Given the description of an element on the screen output the (x, y) to click on. 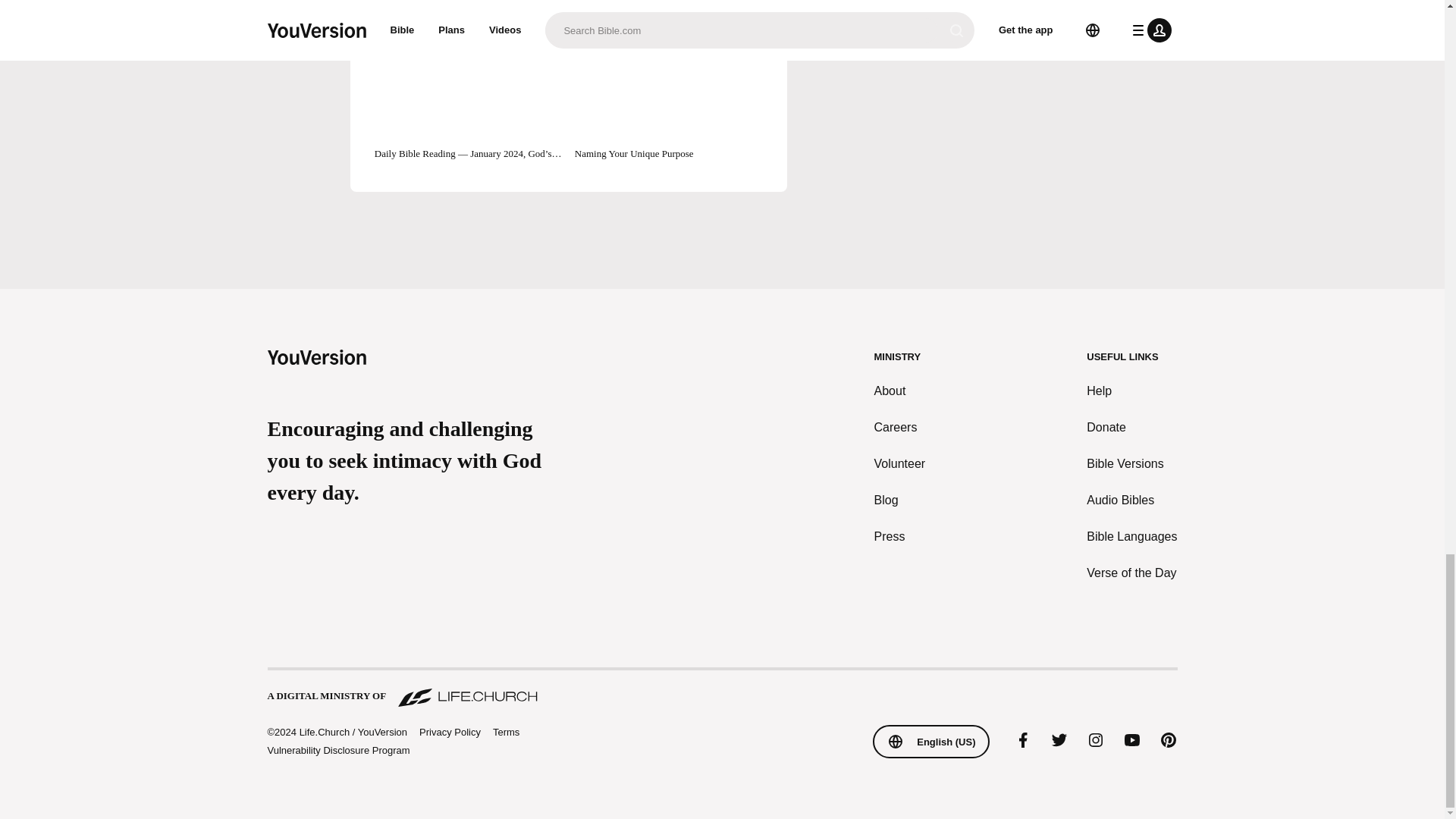
Reading the Bible in Historical Sequence Part 10 (468, 8)
About (900, 391)
The Whole Story: A Life in God's Kingdom, Part One (668, 8)
Volunteer (900, 464)
Naming Your Unique Purpose (668, 98)
Blog (900, 500)
Careers (900, 427)
